Given the description of an element on the screen output the (x, y) to click on. 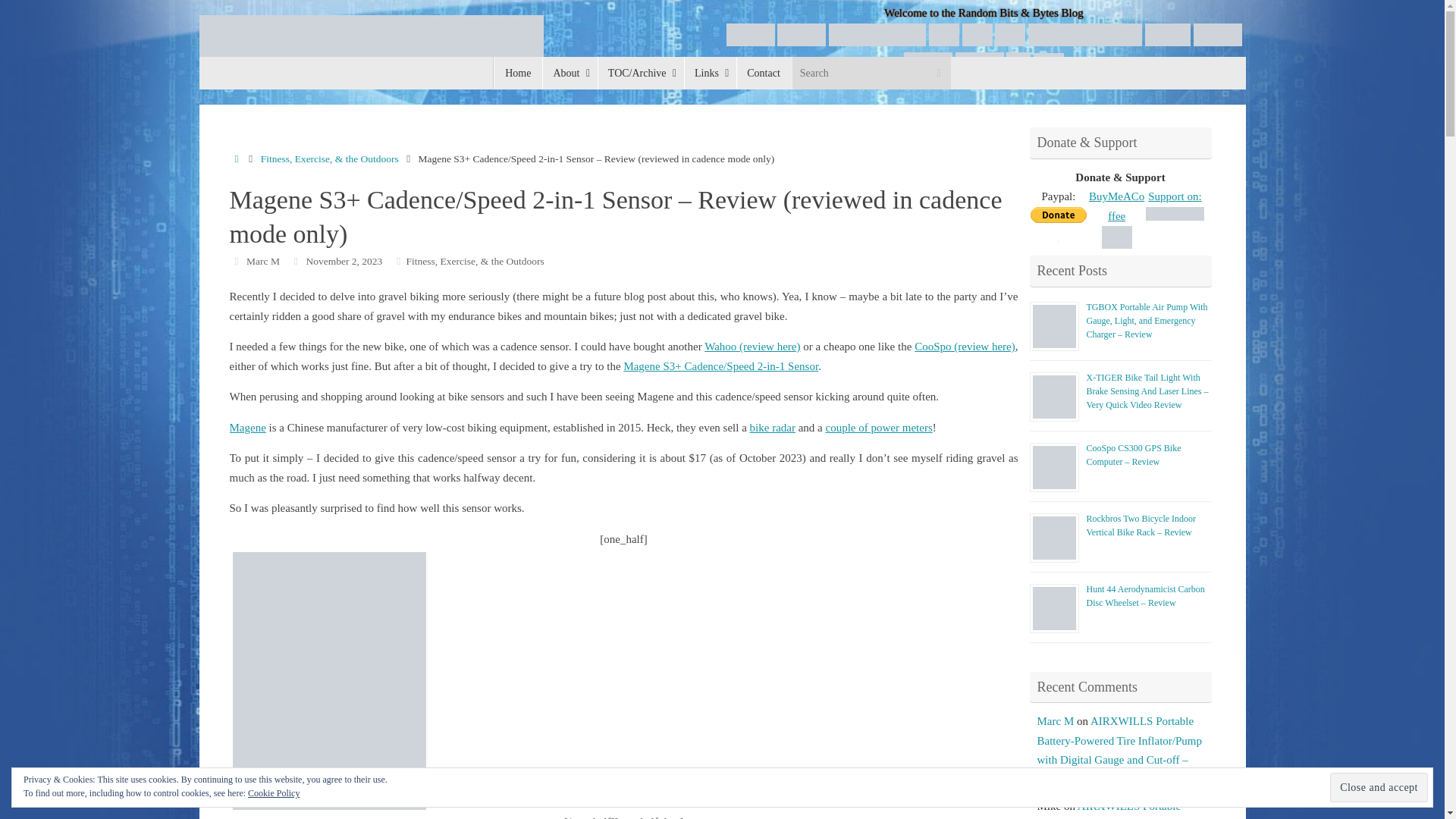
Home (518, 72)
Buy Me A Coffee or Whatever (943, 33)
Close and accept (1379, 787)
Table of Contents, Archive (640, 72)
Click for info about the blog and the author. (568, 72)
Contact the editor (764, 72)
About (568, 72)
